Given the description of an element on the screen output the (x, y) to click on. 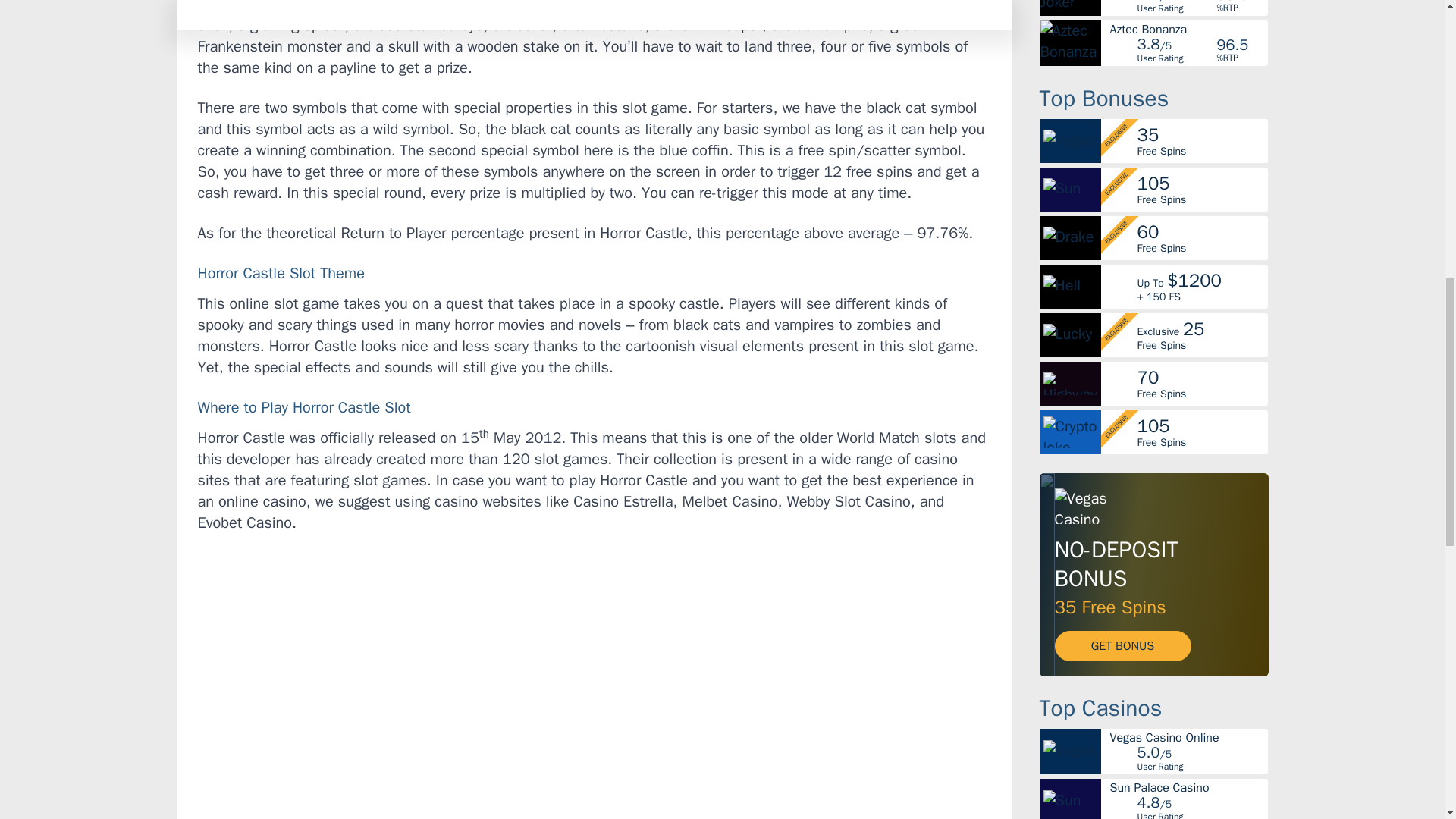
Vegas Casino Online (1187, 737)
Aztec Bonanza (1187, 29)
Sun Palace Casino (1187, 787)
